Given the description of an element on the screen output the (x, y) to click on. 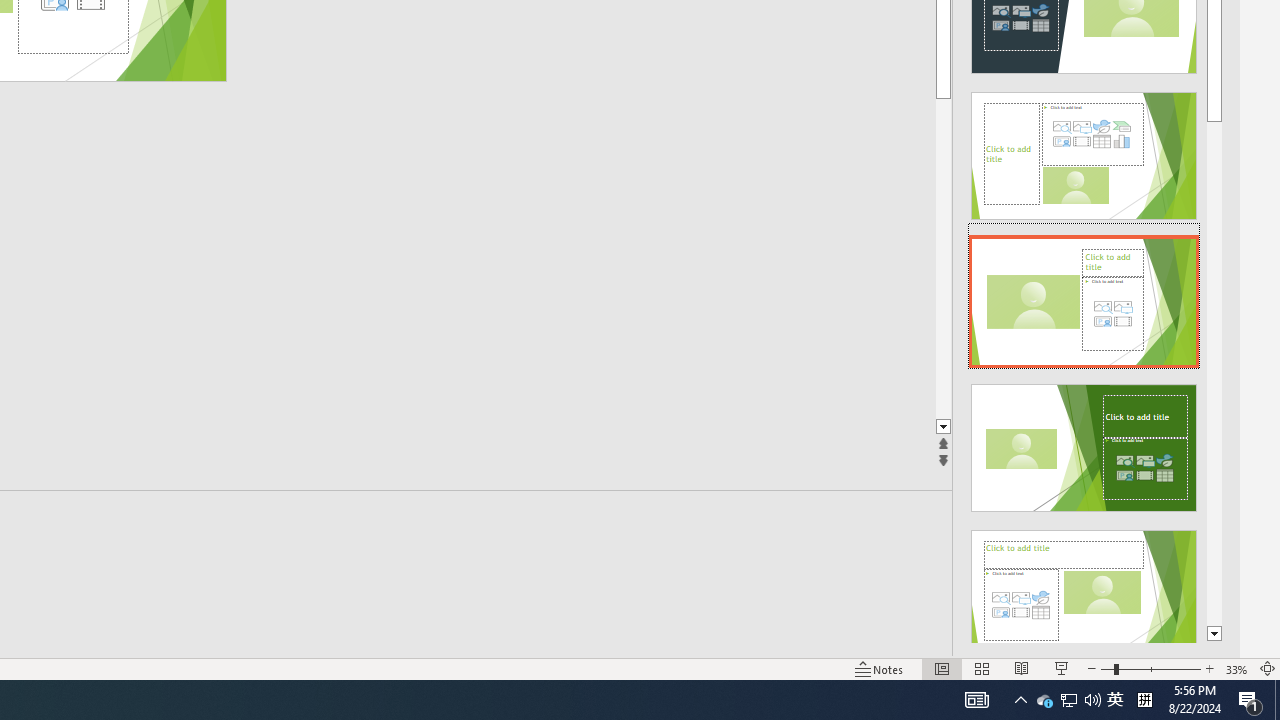
Design Idea (1083, 587)
Zoom 33% (1236, 668)
